Given the description of an element on the screen output the (x, y) to click on. 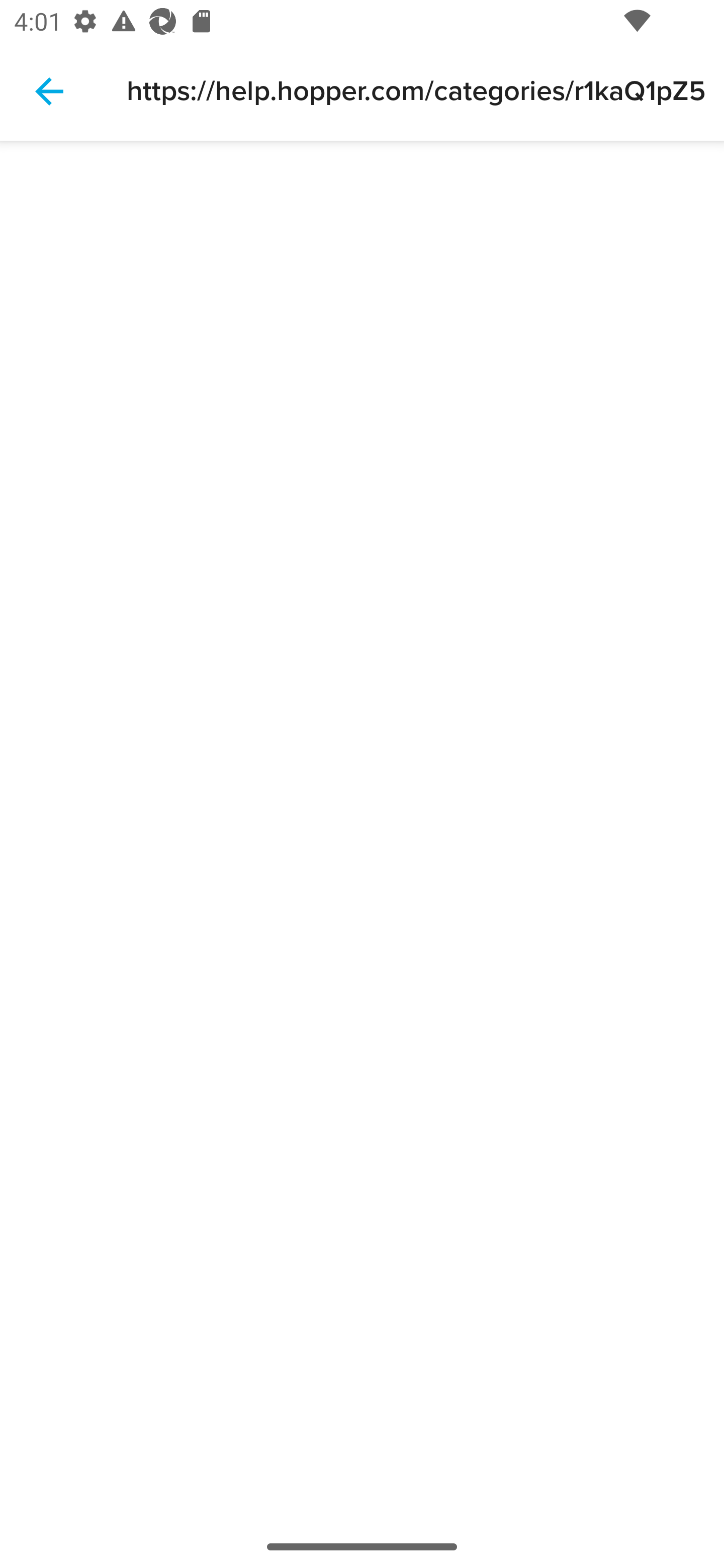
Navigate up (49, 91)
